Given the description of an element on the screen output the (x, y) to click on. 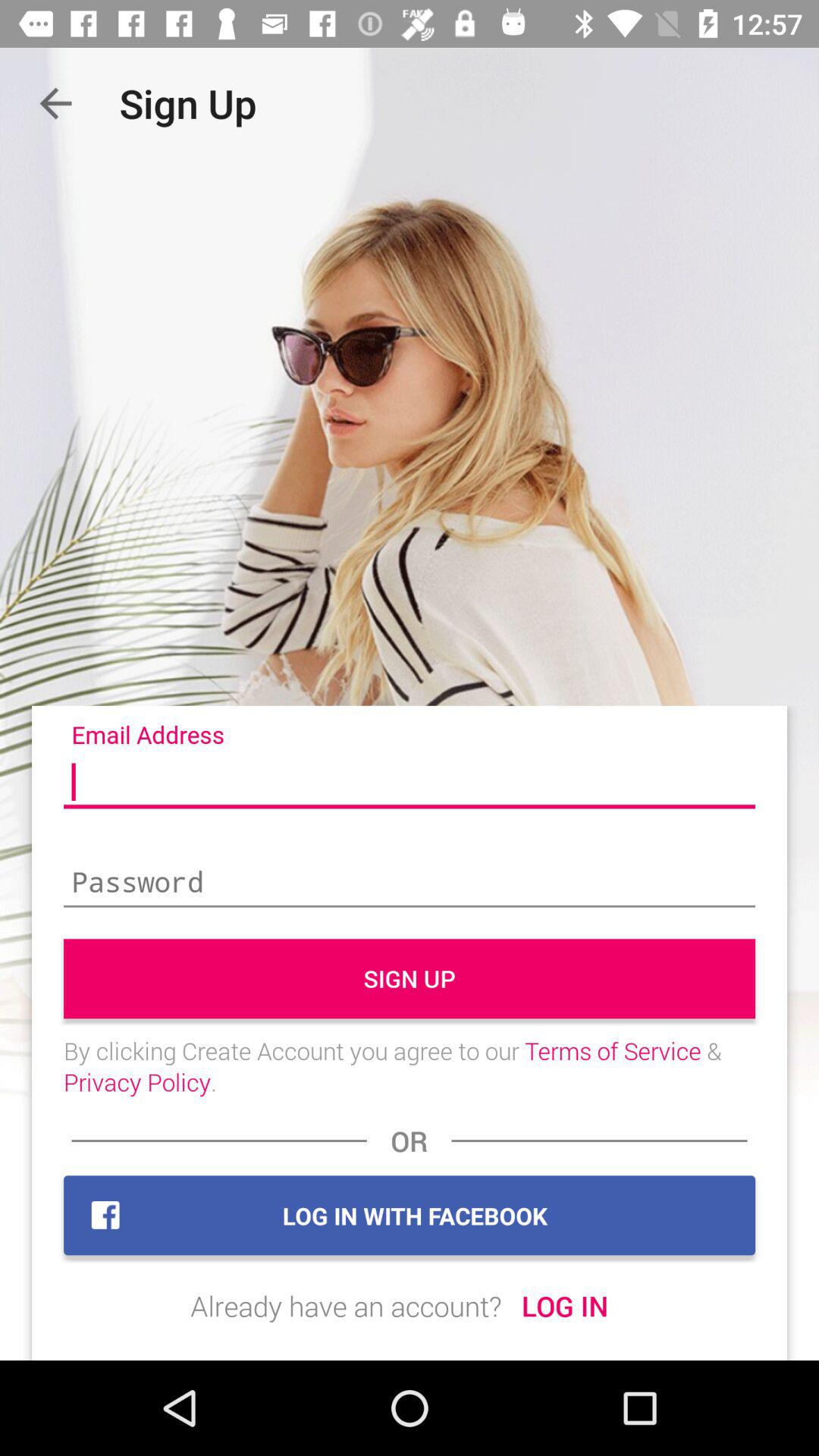
tap the icon to the left of sign up app (55, 103)
